Given the description of an element on the screen output the (x, y) to click on. 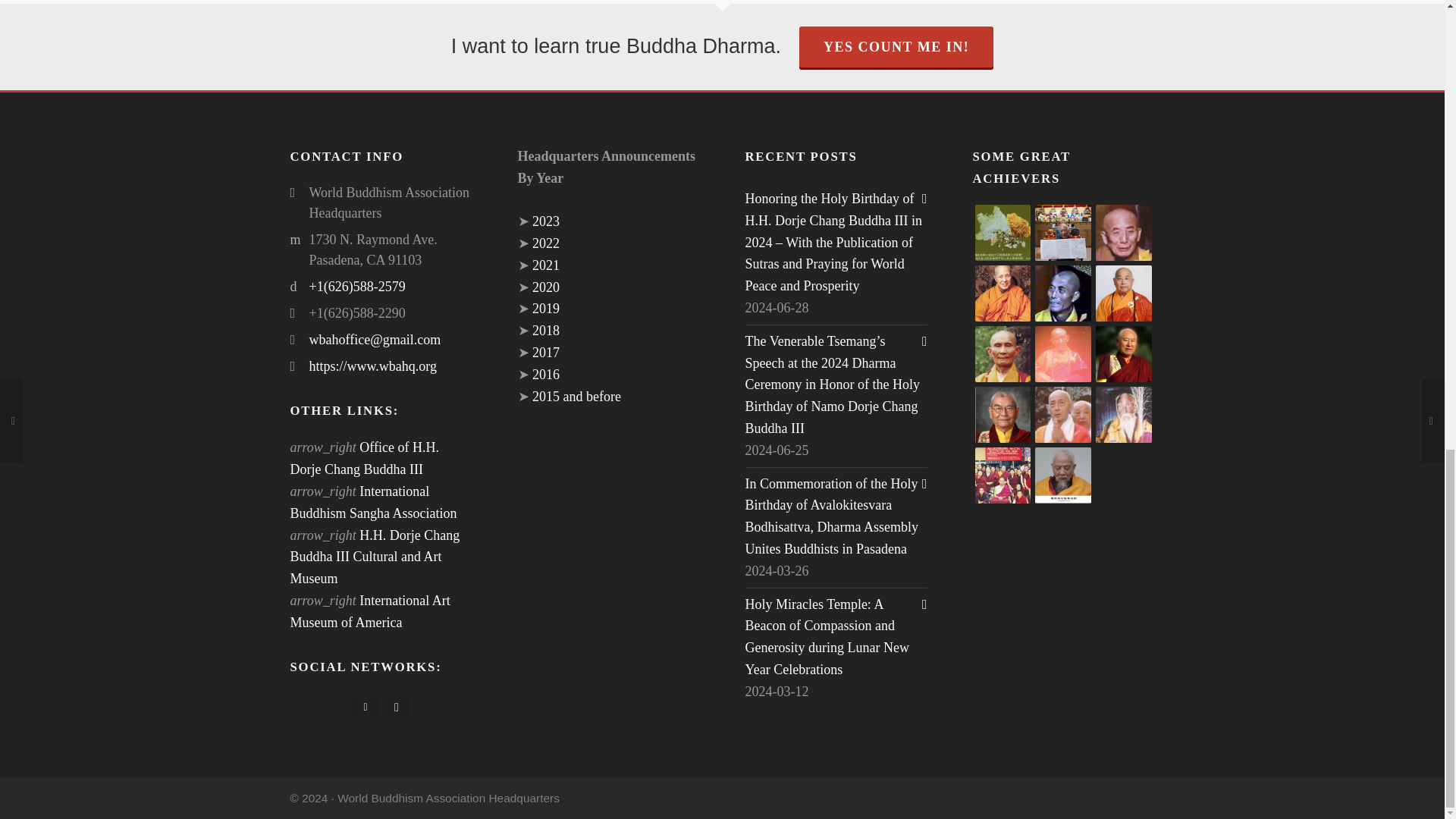
Venerable Dharma Master Wuming (1123, 293)
Venerable Dharma Teacher Puguan (1002, 353)
Layman Wang Ling-Ze and Laywoman Wang Cheng E-Feng (1002, 232)
Laymen Zhao Yusheng (1062, 232)
Venerable Dharma Teacher Yongding (1062, 293)
Venerable Dharma Teacher Qingding (1002, 293)
Venerable Dharma Teacher Tonghui (1123, 232)
